Given the description of an element on the screen output the (x, y) to click on. 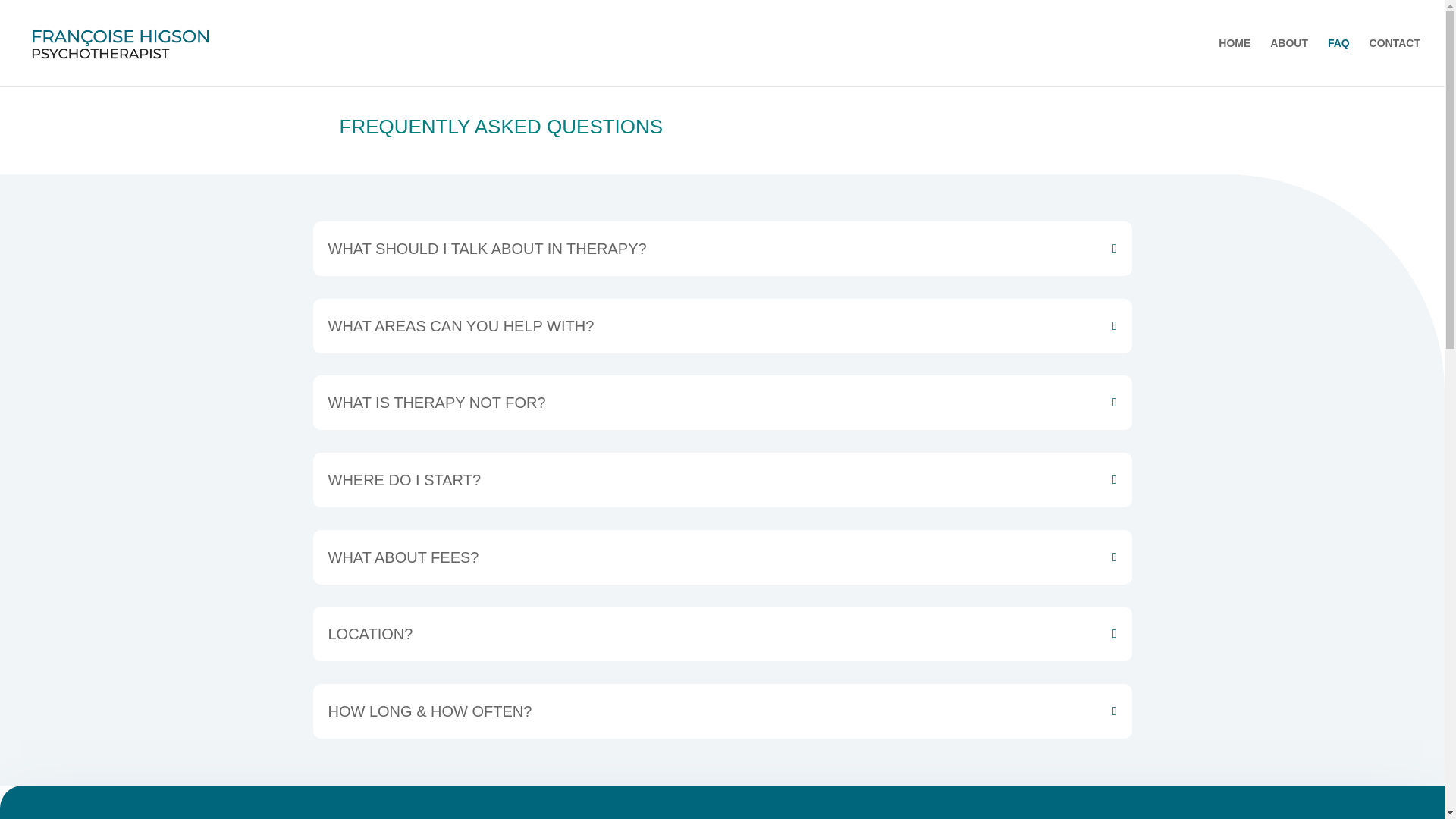
CONTACT (1395, 61)
